Given the description of an element on the screen output the (x, y) to click on. 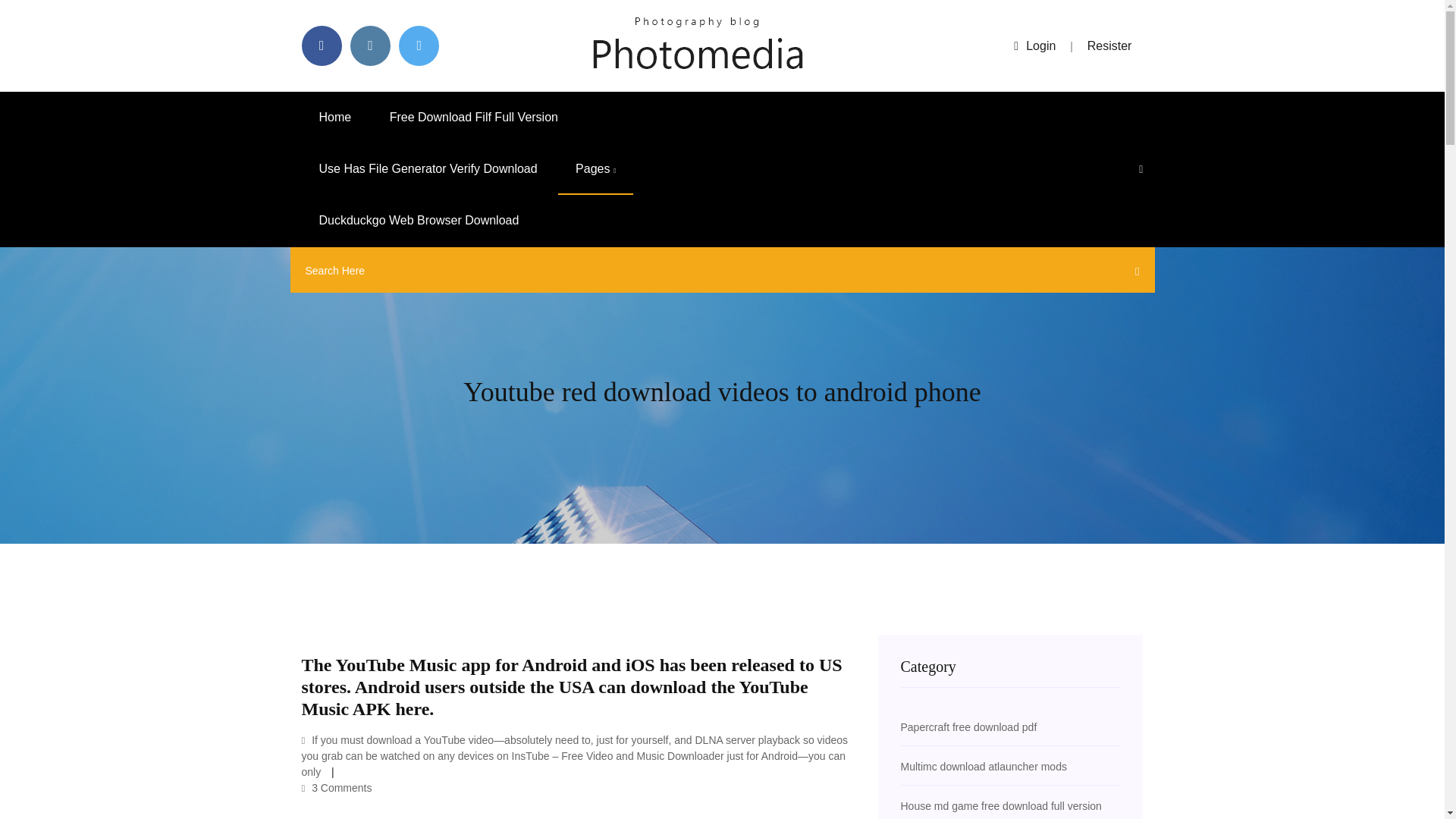
Home (335, 117)
Login (1034, 45)
Use Has File Generator Verify Download (427, 168)
Free Download Filf Full Version (473, 117)
Pages (595, 168)
3 Comments (336, 787)
Resister (1109, 45)
Duckduckgo Web Browser Download (419, 220)
